Given the description of an element on the screen output the (x, y) to click on. 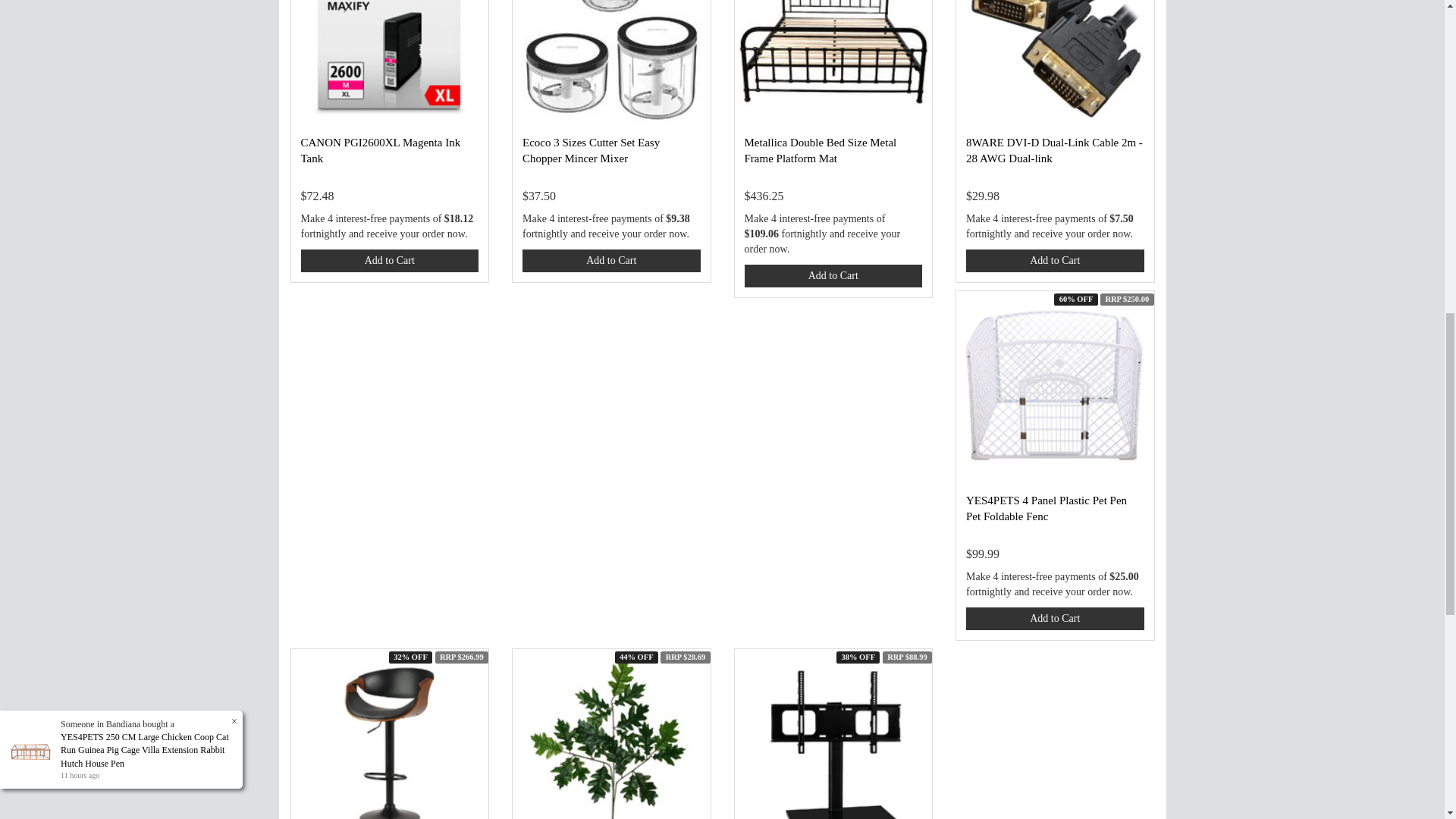
Add CANON PGI2600XL Magenta Ink Tank to Cart (389, 260)
